Given the description of an element on the screen output the (x, y) to click on. 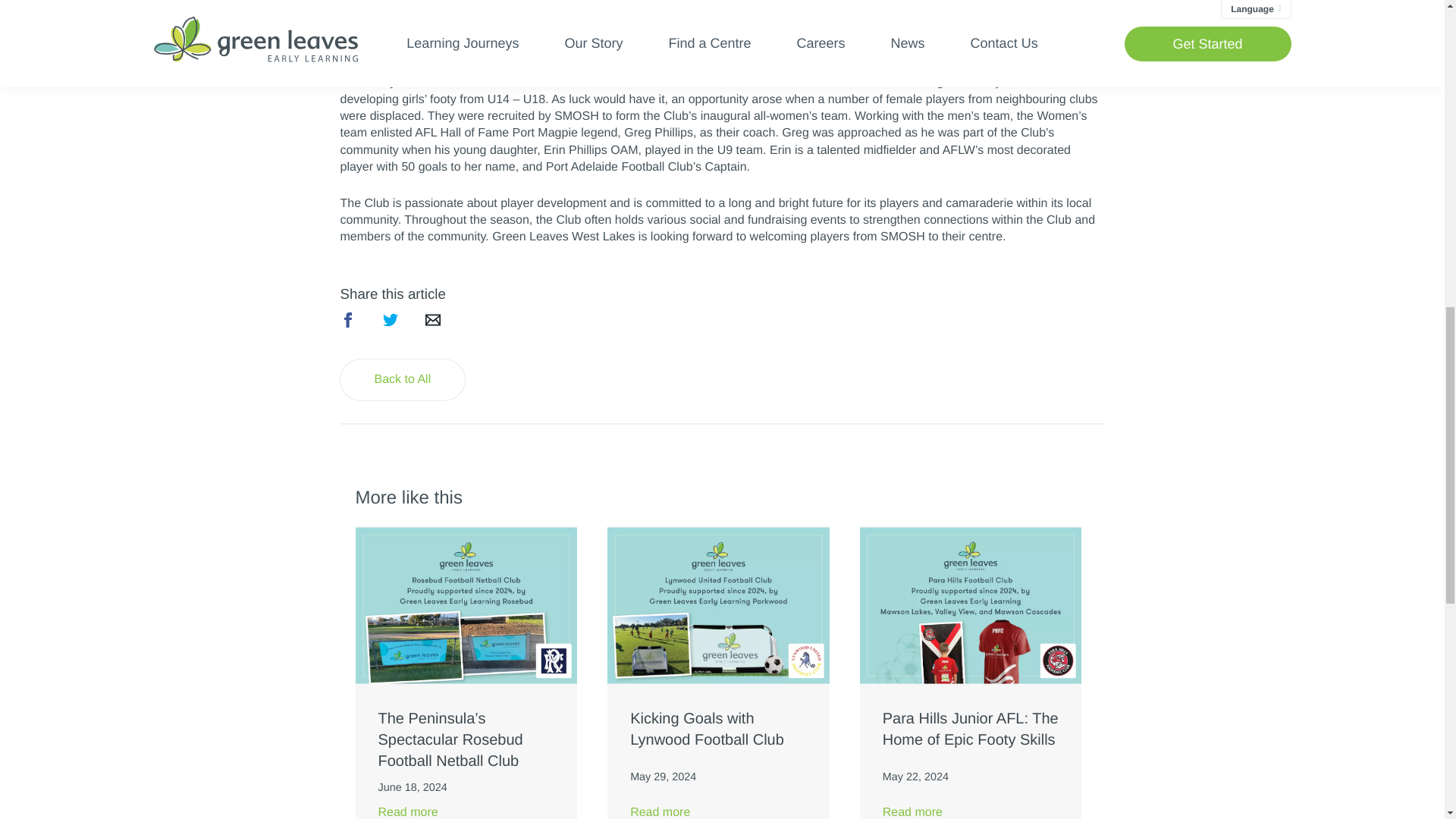
Share via Twitter (389, 320)
Back to All (402, 379)
Share on Facebook (347, 320)
Read more (718, 811)
Read more (465, 811)
Share via email (432, 320)
Kicking Goals with Lynwood Football Club (718, 729)
